Given the description of an element on the screen output the (x, y) to click on. 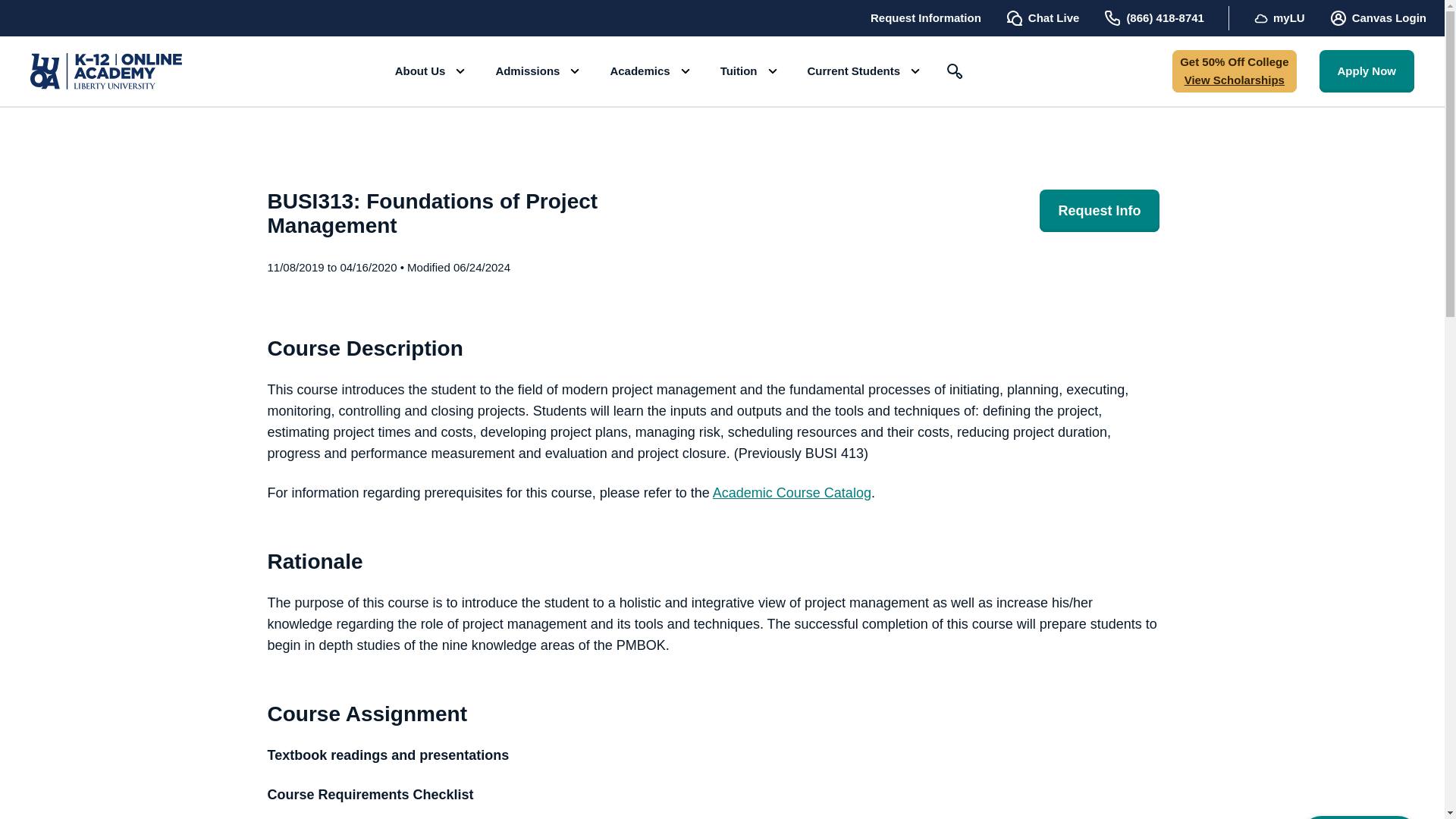
Chat Live (1043, 17)
Request Information (925, 17)
myLU (1278, 17)
Canvas Login (1377, 17)
